Given the description of an element on the screen output the (x, y) to click on. 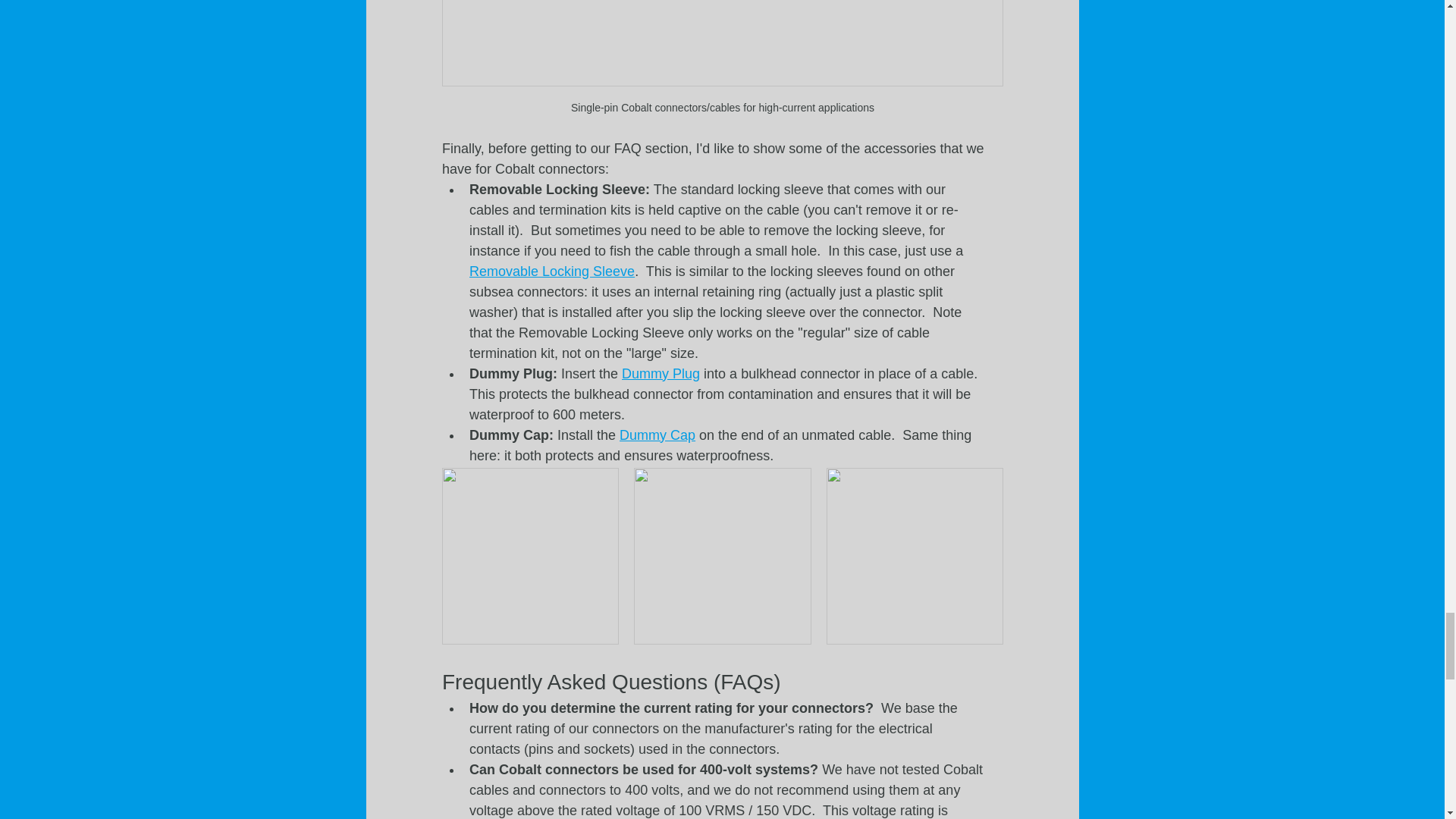
Dummy Cap (657, 435)
Removable Locking Sleeve (550, 271)
Dummy Plug (660, 373)
